Given the description of an element on the screen output the (x, y) to click on. 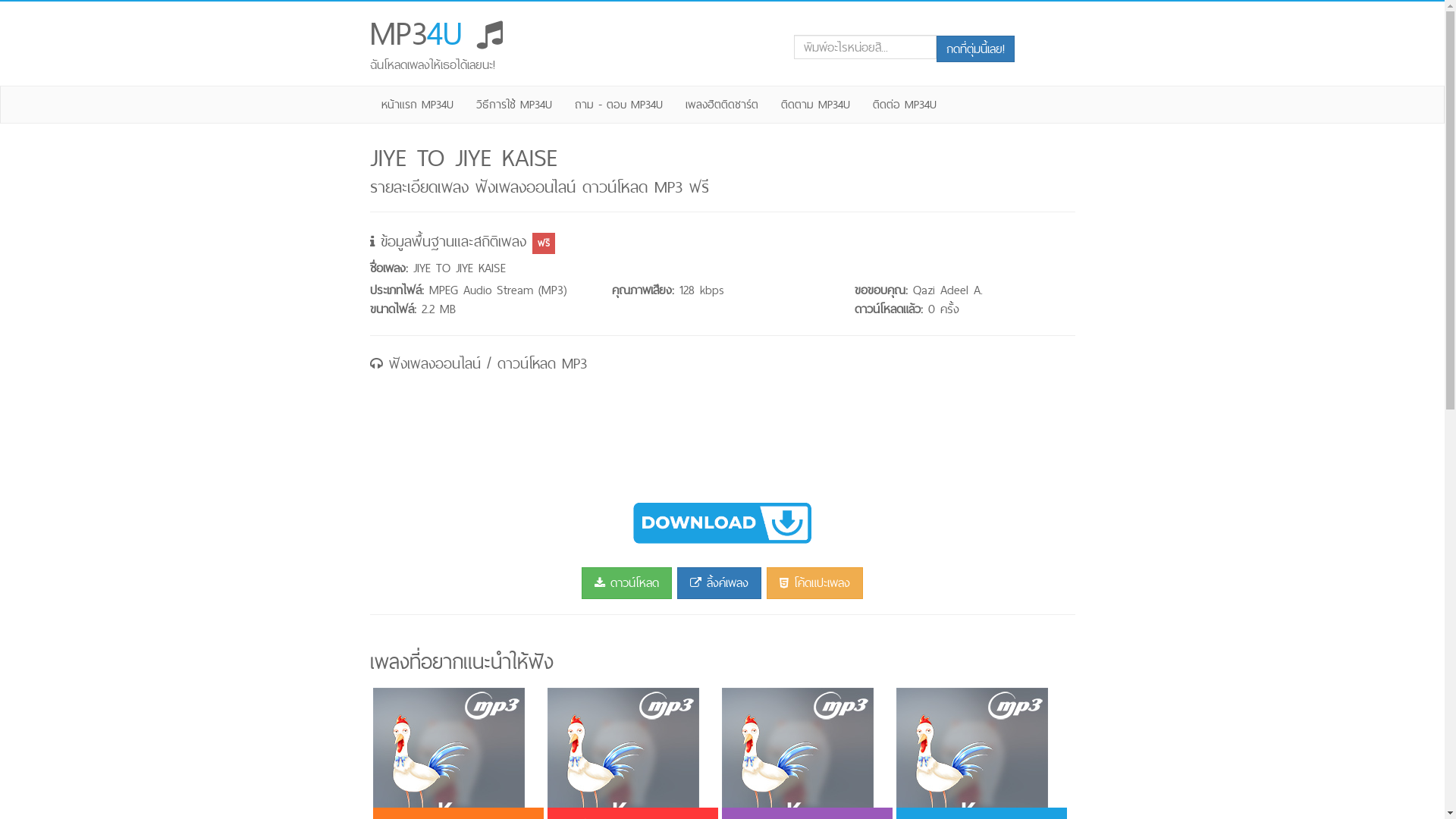
MP34U  Element type: text (436, 32)
